Given the description of an element on the screen output the (x, y) to click on. 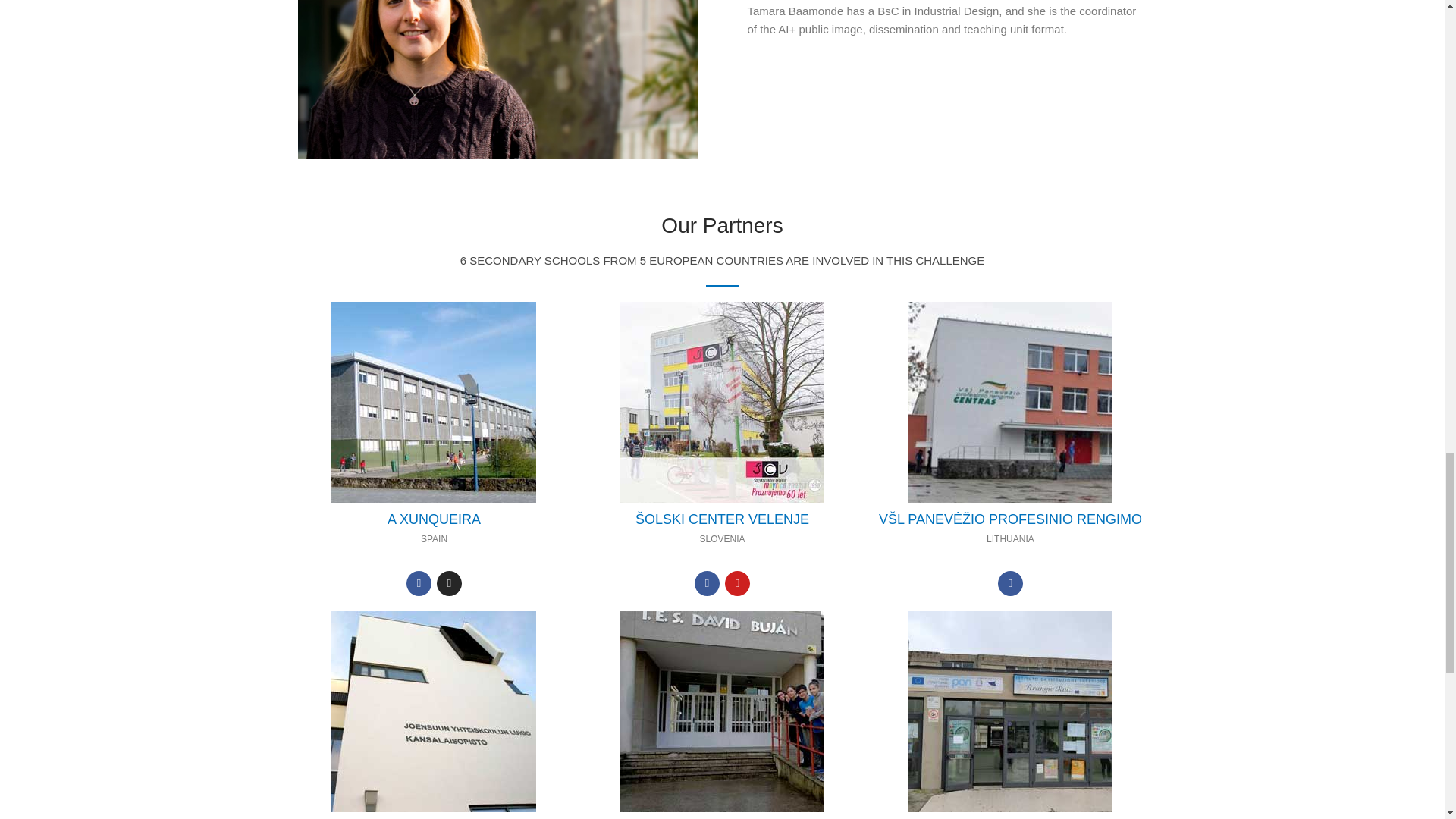
Edu (721, 519)
SLOVENIA (722, 400)
LITHUANIA (1009, 400)
A XUNQUEIRA (433, 519)
SPAIN (433, 400)
FINDLAND (433, 709)
SPAIN (722, 709)
ITALY (1009, 709)
